Given the description of an element on the screen output the (x, y) to click on. 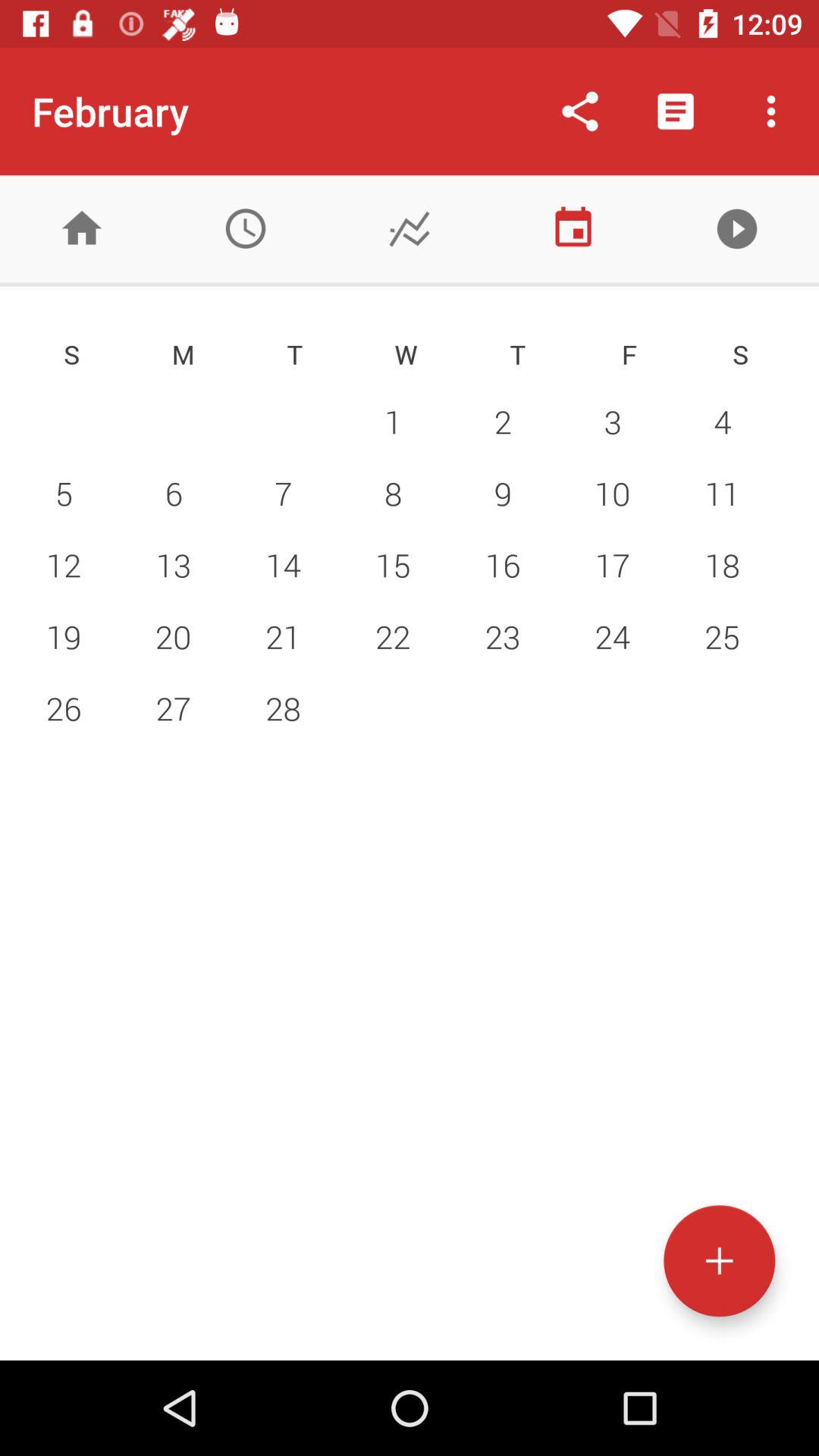
select the time (245, 228)
